Given the description of an element on the screen output the (x, y) to click on. 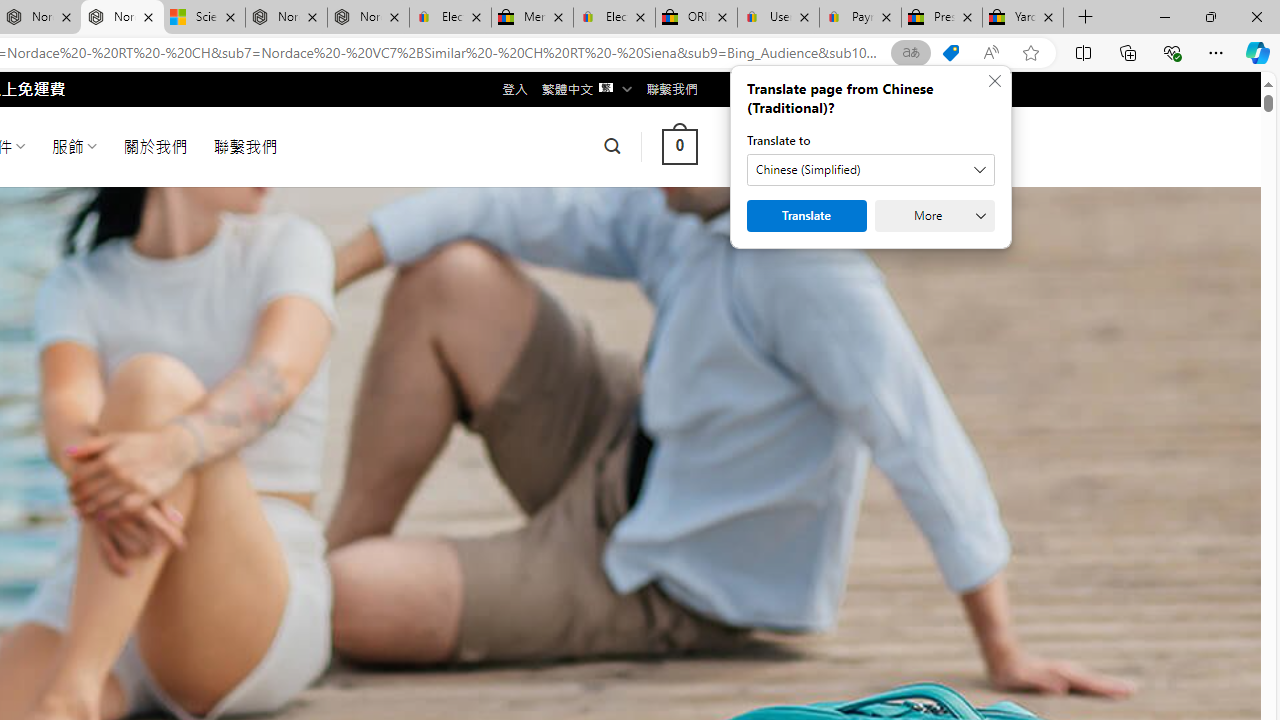
Translate to (870, 169)
Nordace - FAQ (368, 17)
 0  (679, 146)
More (934, 215)
Translate (806, 215)
